Given the description of an element on the screen output the (x, y) to click on. 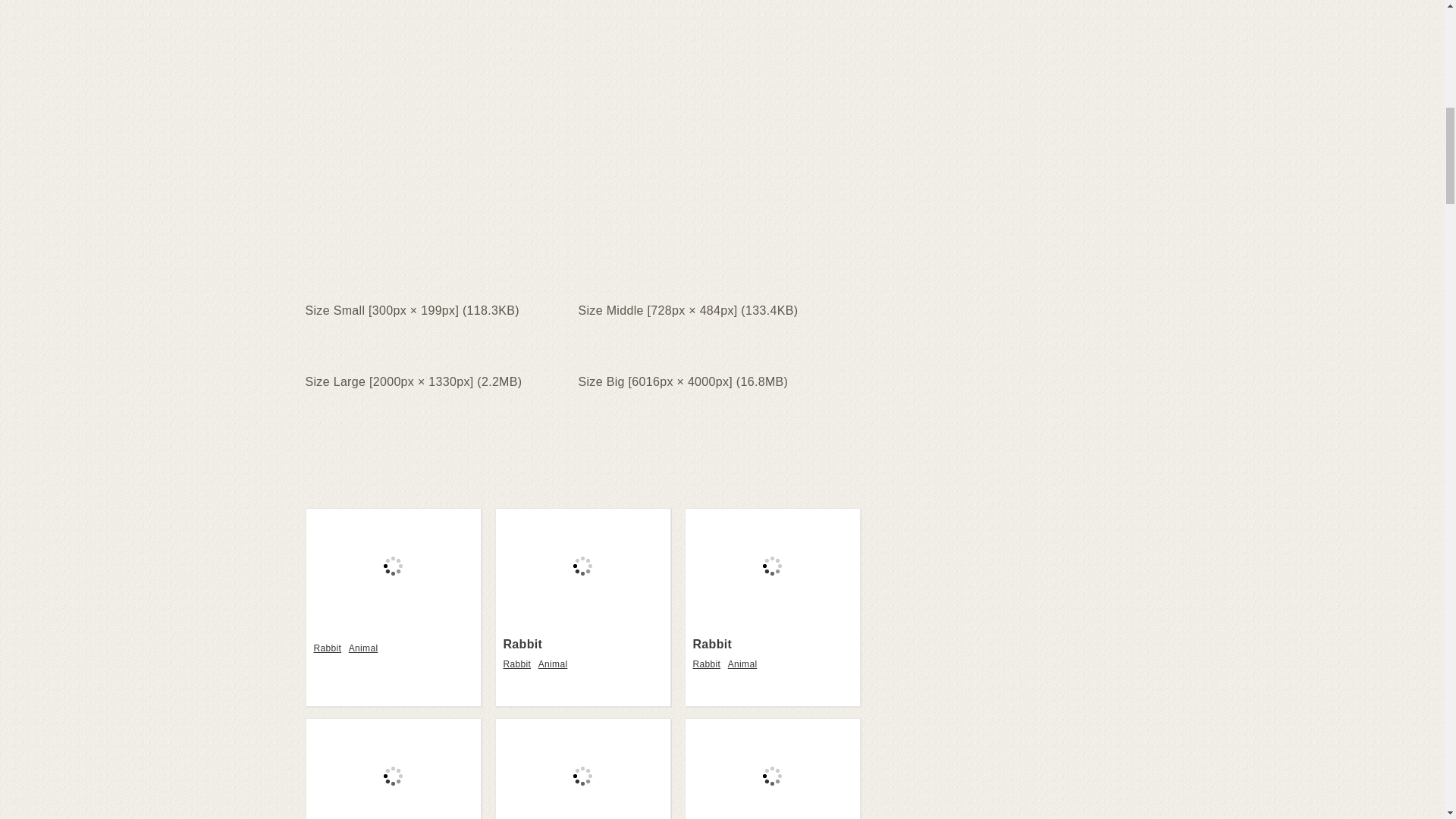
Rabbit (519, 664)
Rabbit (523, 644)
Animal (555, 664)
Advertisement (580, 178)
Rabbit (519, 664)
Rabbit (772, 619)
animal (744, 664)
Rabbit (712, 644)
Rabbit (709, 664)
Rabbit (330, 648)
Rabbit (712, 644)
Rabbit (582, 619)
Rabbit (582, 565)
Rabbit (772, 565)
animal (365, 648)
